Given the description of an element on the screen output the (x, y) to click on. 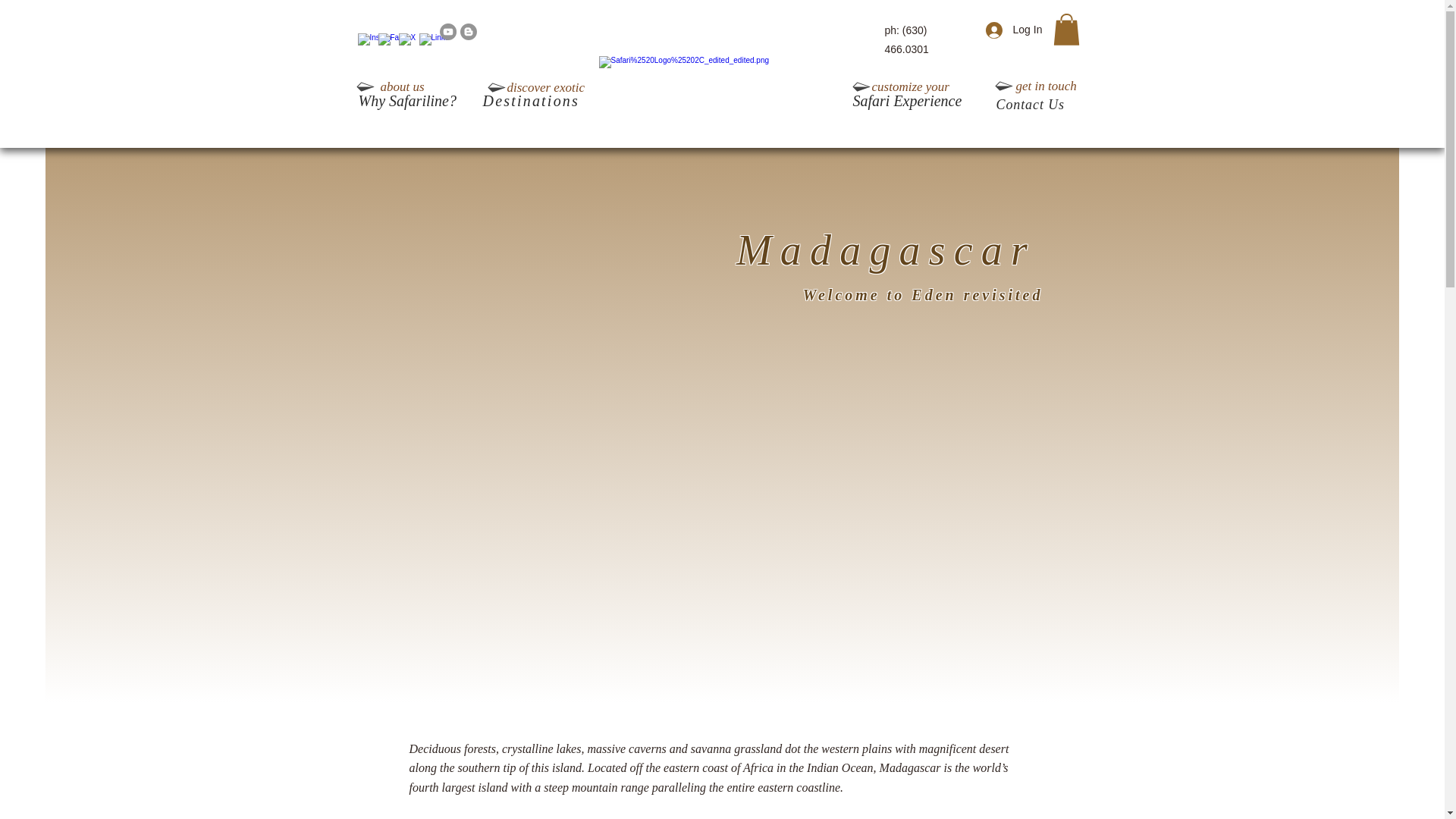
Log In (1009, 29)
